Given the description of an element on the screen output the (x, y) to click on. 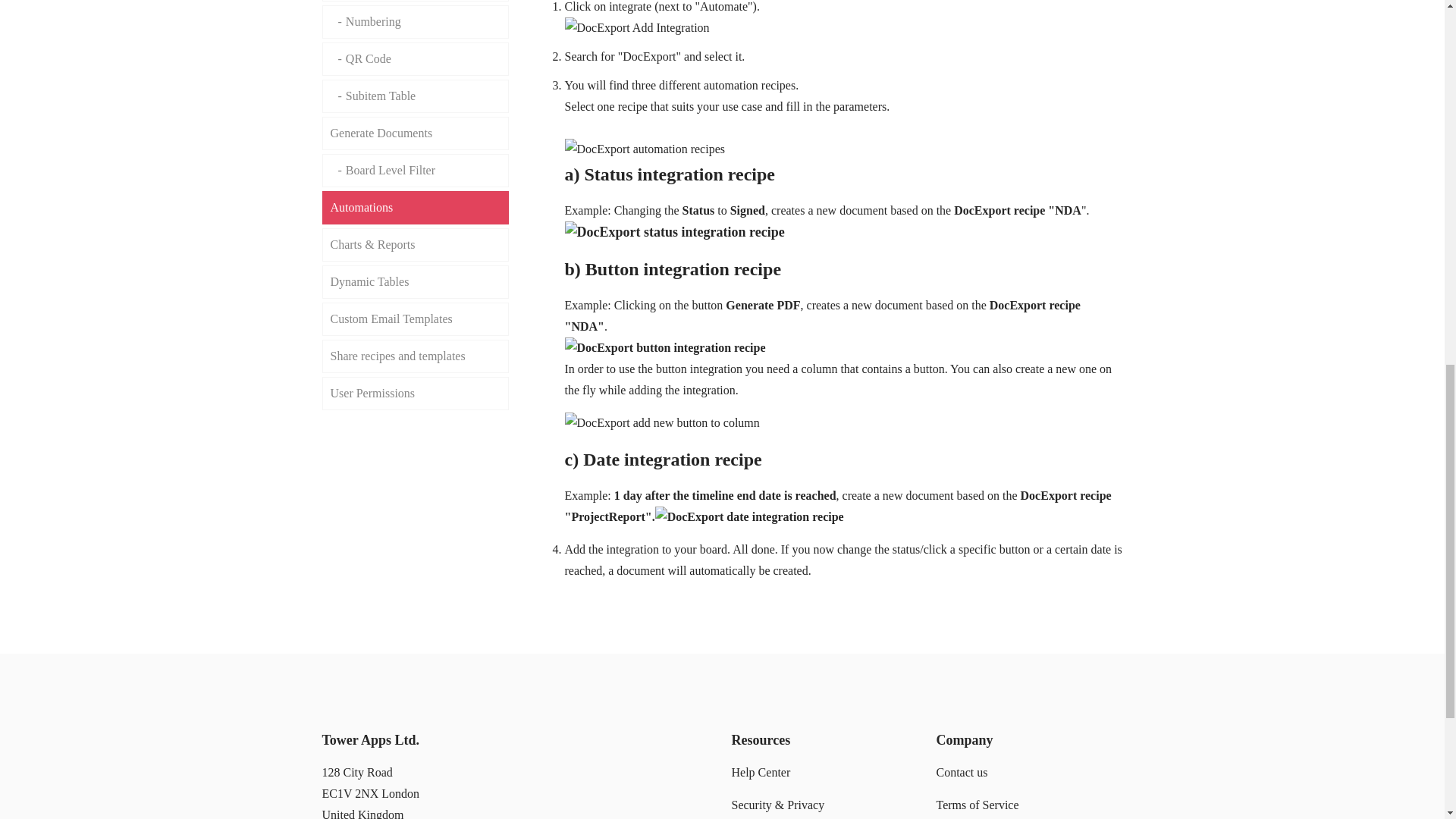
QR Code (414, 59)
Board Level Filter (414, 170)
Dynamic Tables (414, 281)
Custom Email Templates (414, 318)
Automations (414, 207)
User Permissions (414, 393)
Generate Documents (414, 133)
Subitem Table (414, 96)
Numbering (414, 21)
Share recipes and templates (414, 356)
Help Center (760, 771)
